Given the description of an element on the screen output the (x, y) to click on. 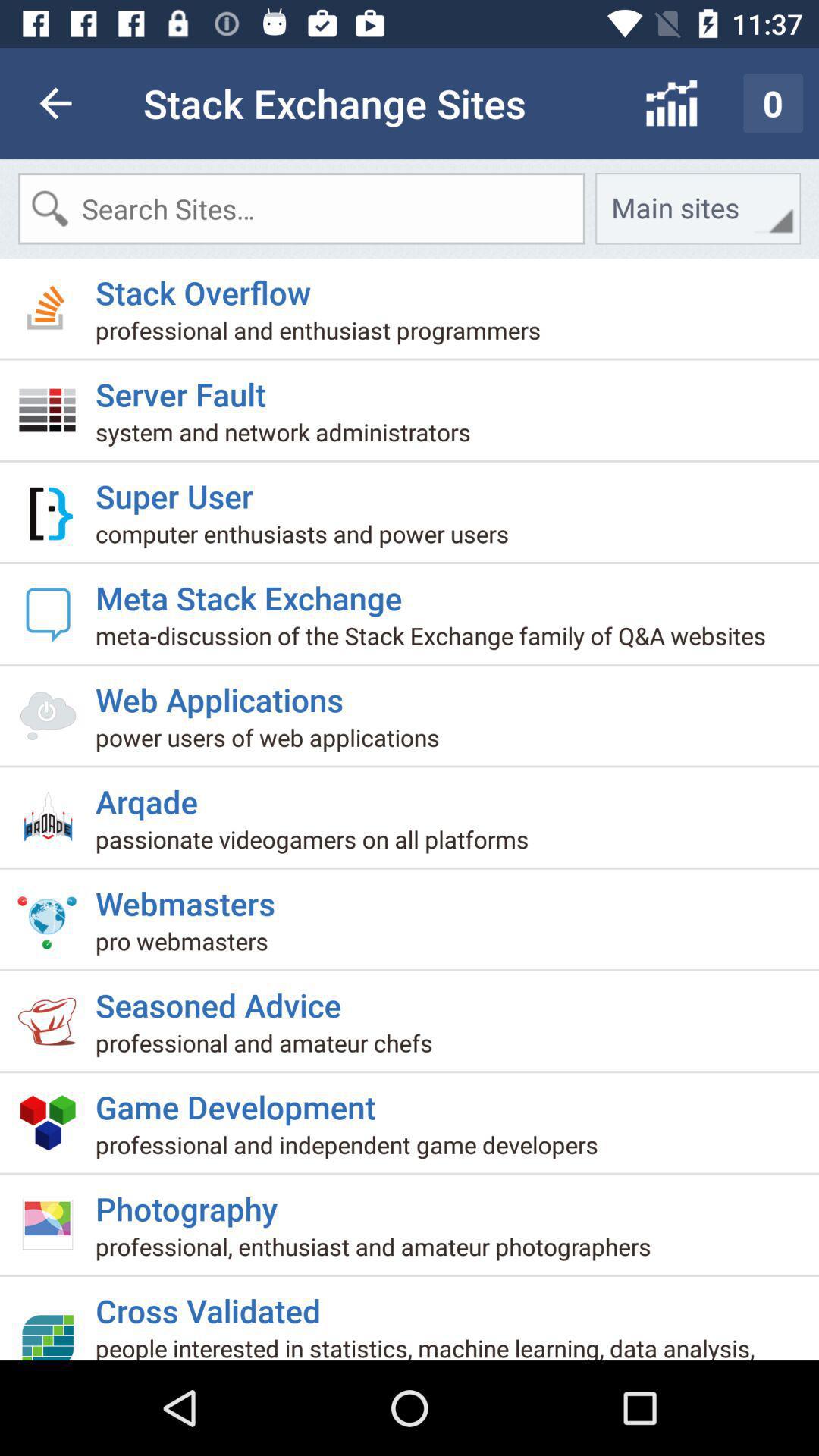
search box (301, 208)
